Given the description of an element on the screen output the (x, y) to click on. 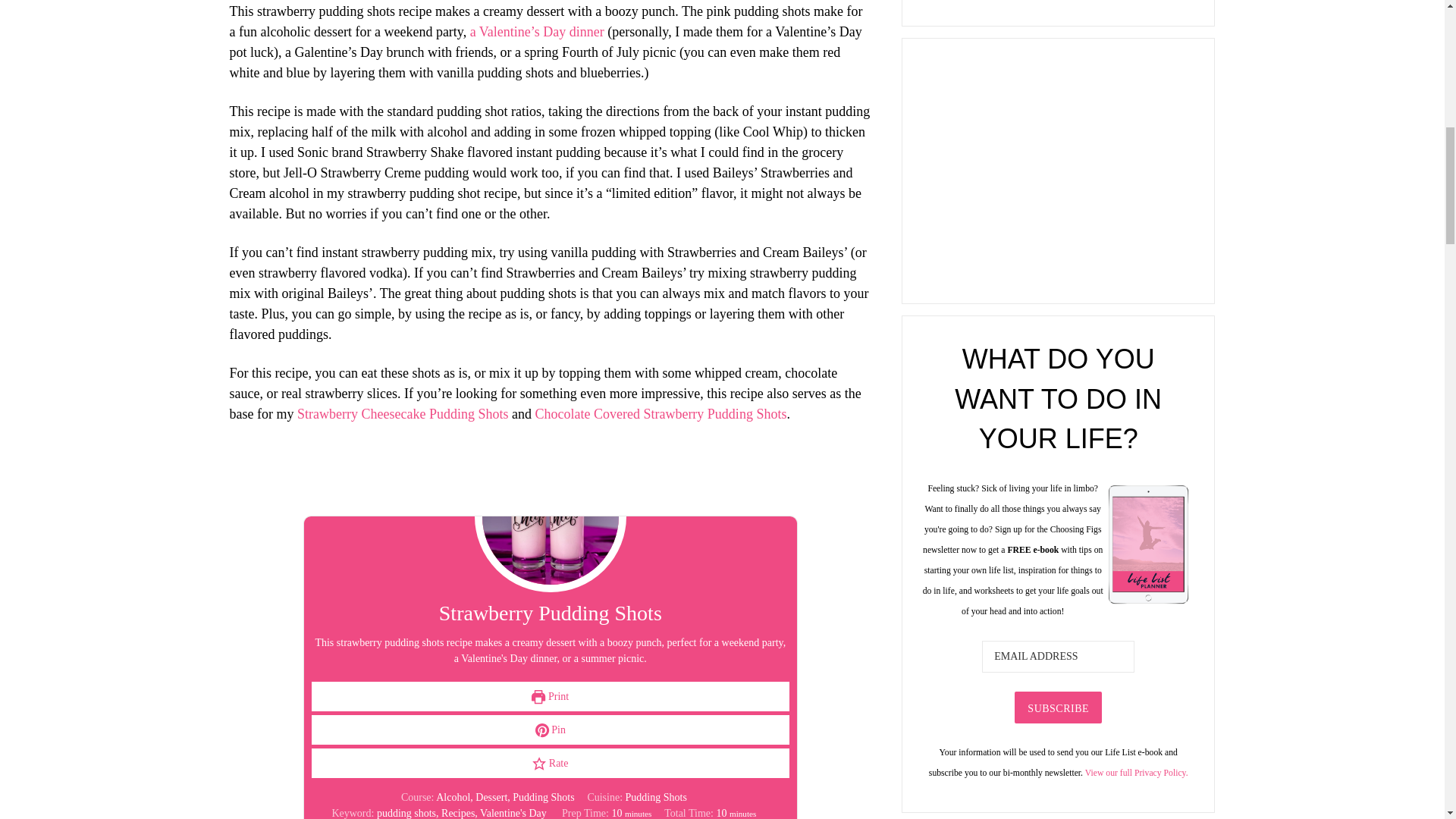
Advertisement (1057, 168)
Subscribe (1058, 707)
